Given the description of an element on the screen output the (x, y) to click on. 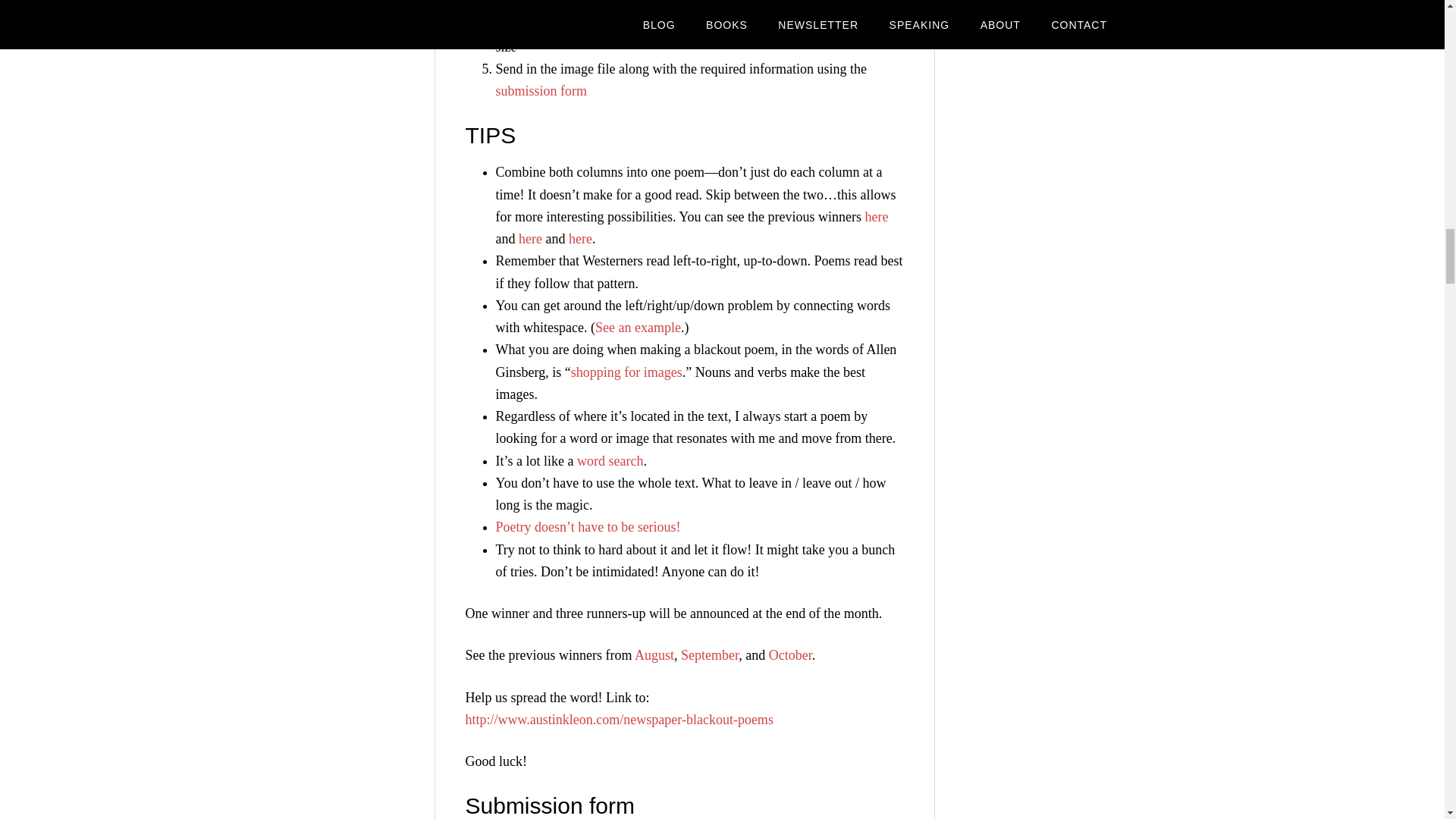
here (529, 238)
word search (609, 460)
shopping for images (626, 371)
here (876, 216)
August (654, 654)
October (790, 654)
submission form (542, 90)
See an example (638, 327)
September (709, 654)
here (580, 238)
